Given the description of an element on the screen output the (x, y) to click on. 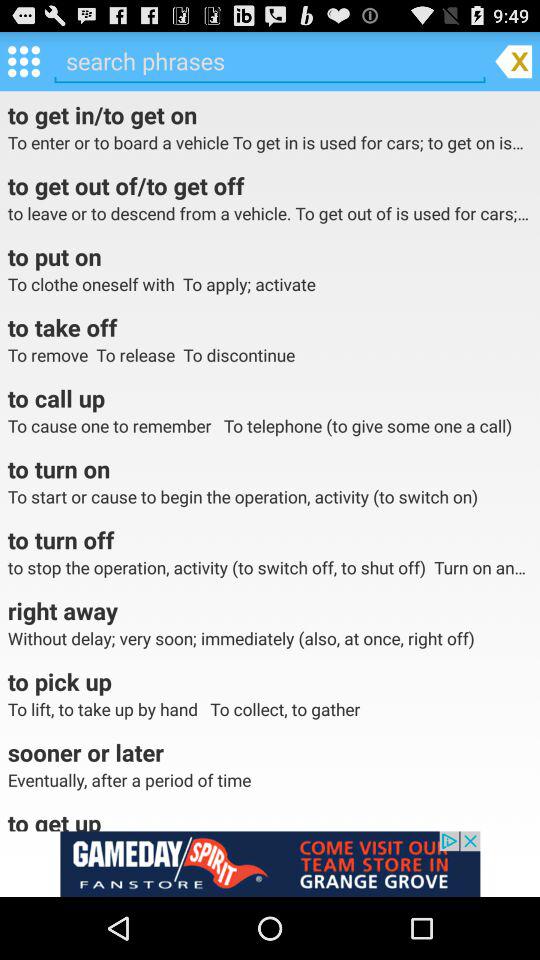
open search bar (269, 61)
